Given the description of an element on the screen output the (x, y) to click on. 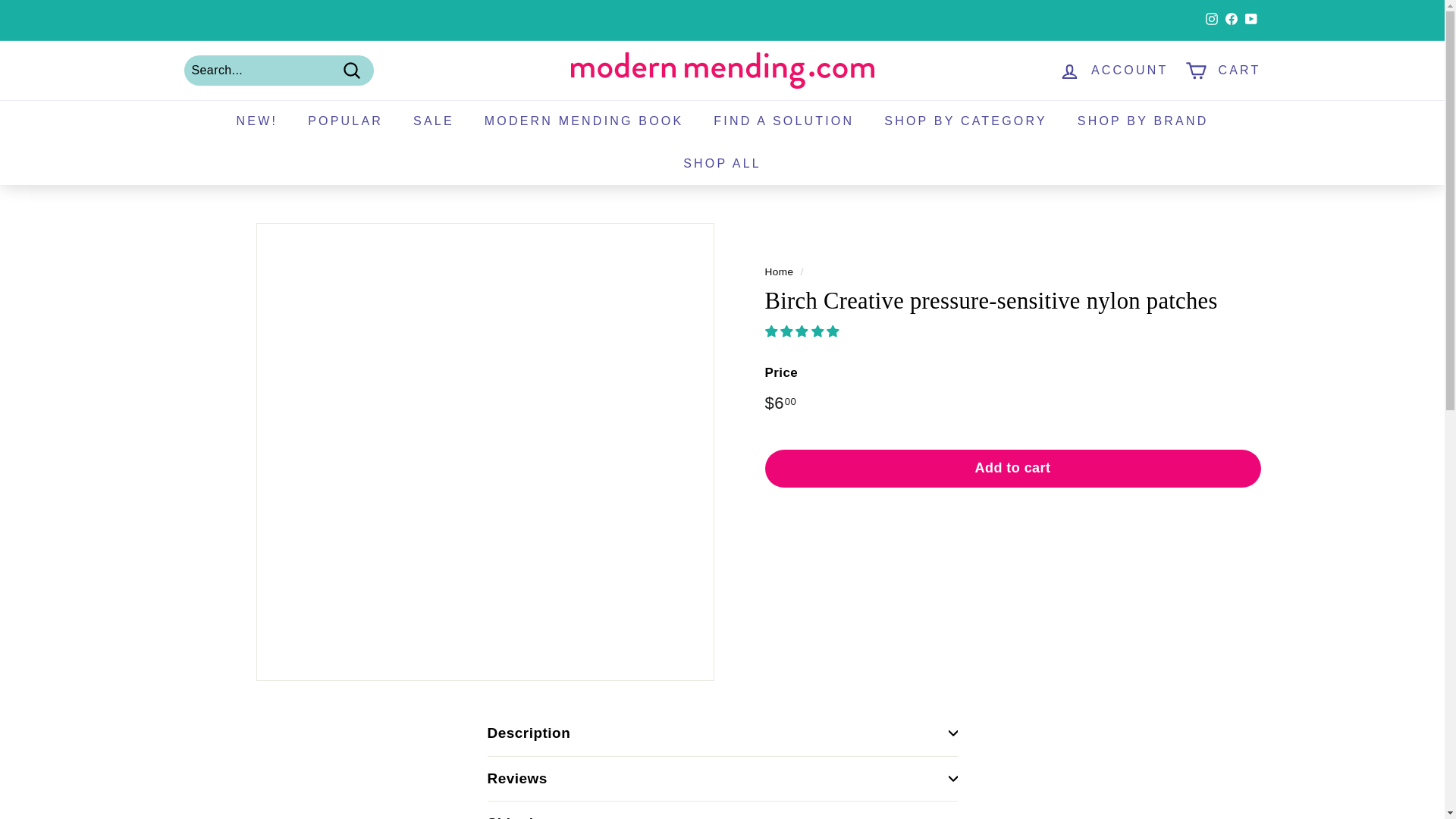
ACCOUNT (1113, 70)
SHOP BY CATEGORY (965, 120)
FIND A SOLUTION (783, 120)
POPULAR (344, 120)
SALE (432, 120)
NEW! (257, 120)
Back to the frontpage (778, 271)
MODERN MENDING BOOK (583, 120)
